Given the description of an element on the screen output the (x, y) to click on. 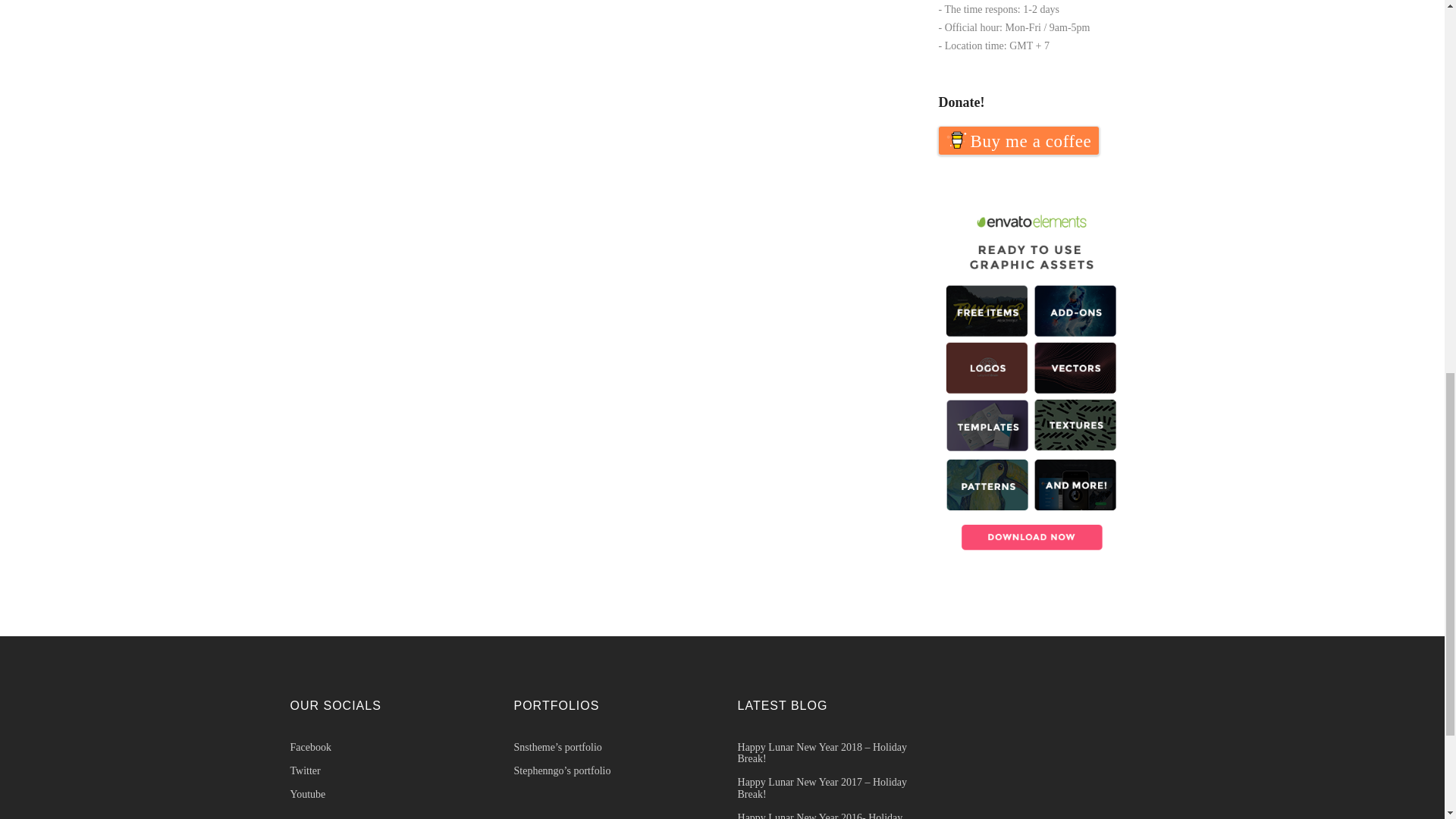
Facebook (386, 747)
Buy me a coffee (1019, 140)
Twitter (386, 770)
